Given the description of an element on the screen output the (x, y) to click on. 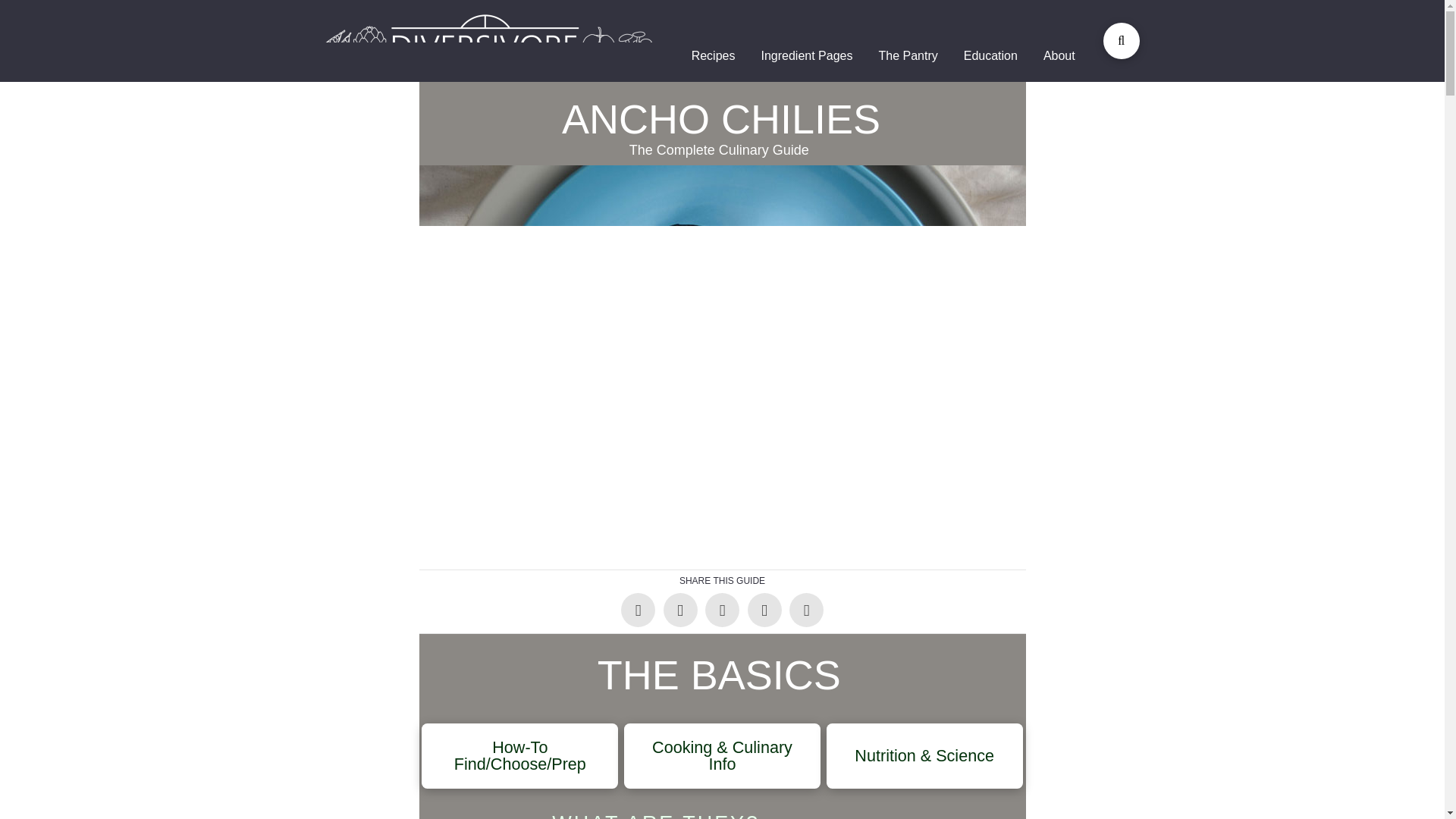
Ingredient Pages (806, 56)
The Pantry (907, 56)
Education (990, 56)
